Given the description of an element on the screen output the (x, y) to click on. 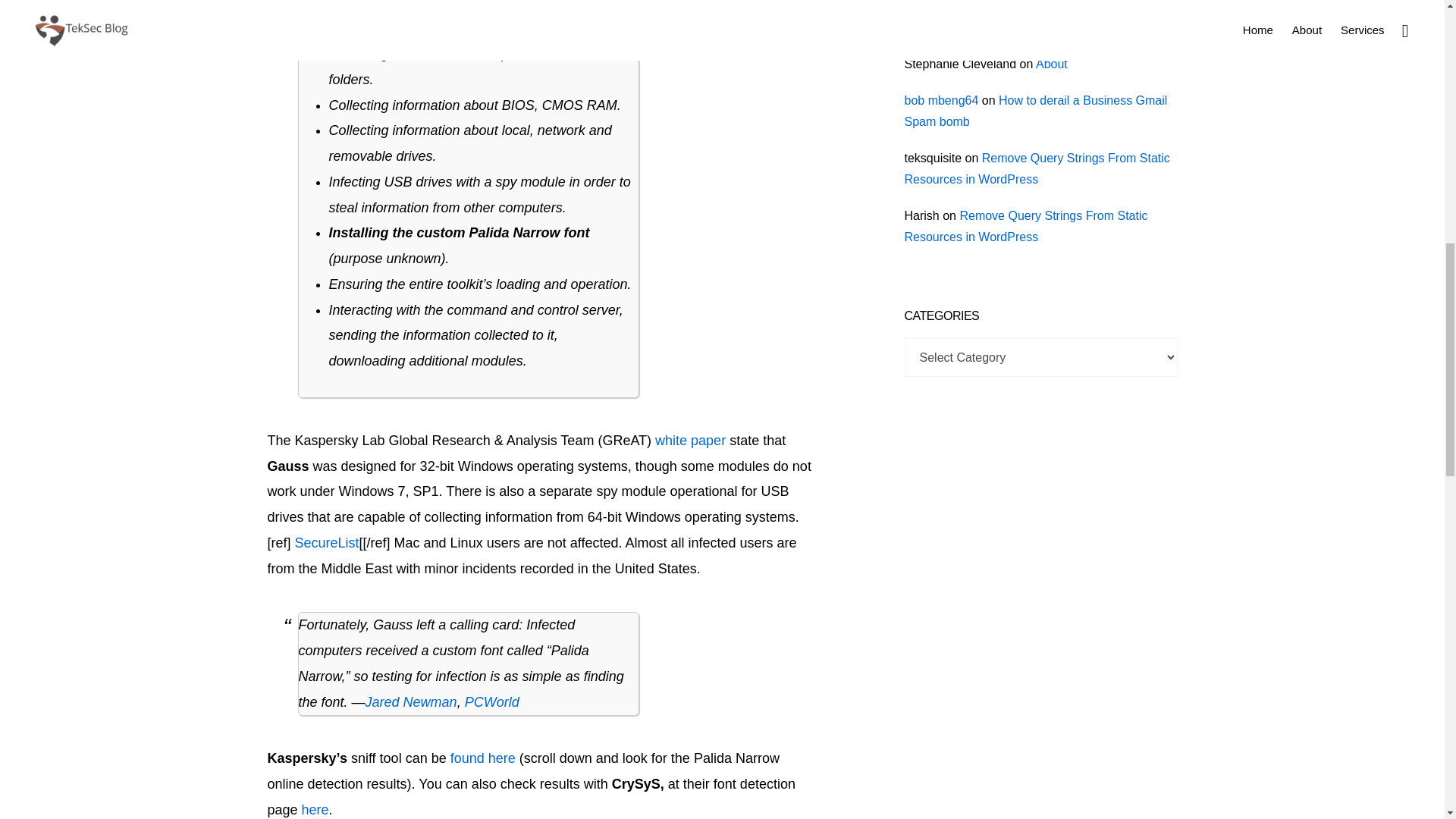
PCWorld (491, 702)
SecureList (327, 542)
white paper (690, 440)
white paper (690, 440)
Securelist (327, 542)
here (315, 809)
found here (482, 758)
PCWorld (491, 702)
Jared Newman (411, 702)
found here (482, 758)
here (315, 809)
